Given the description of an element on the screen output the (x, y) to click on. 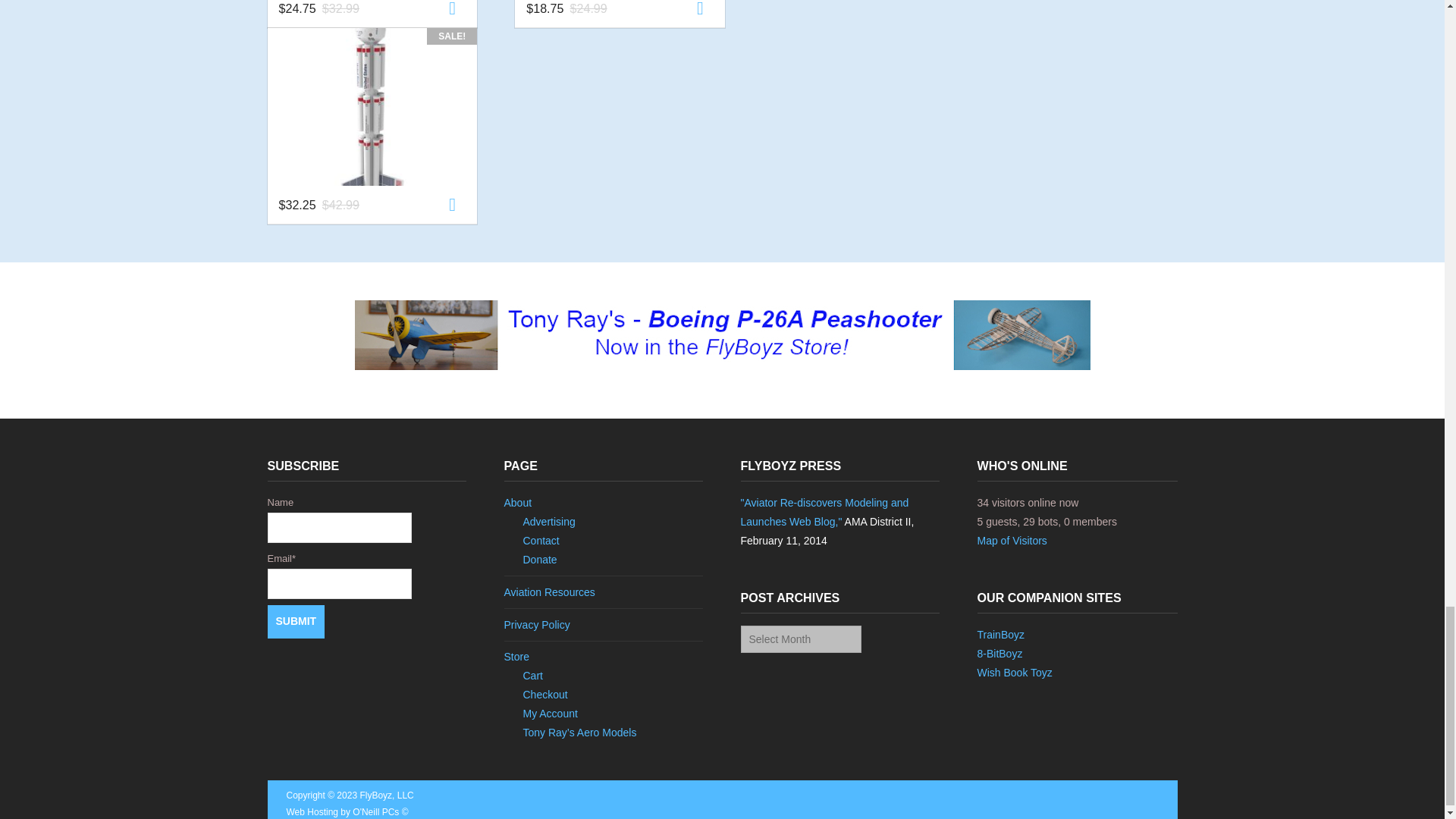
O'Neill PCs (379, 811)
Submit (295, 621)
